Given the description of an element on the screen output the (x, y) to click on. 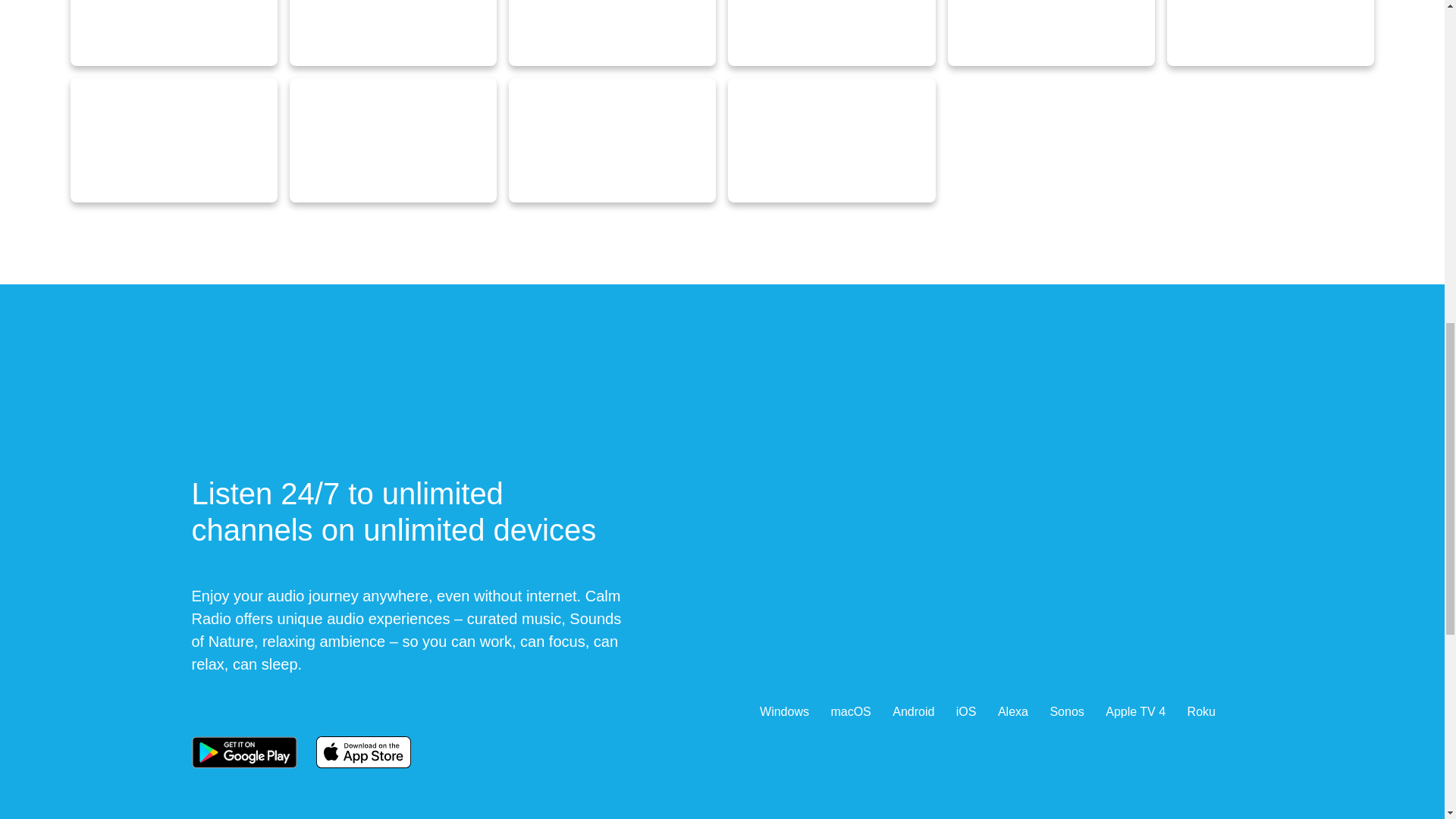
ADAGIOS (831, 33)
ESSENTIAL BEETHOVEN (392, 139)
BALLET (1050, 33)
YO YO MA (172, 33)
ENCHANTED HAYDN (612, 139)
SONATAS (612, 33)
PEACEFUL BACH (1270, 33)
VIENNA PHILHARMONIC (392, 33)
BEST OF BRAHMS (831, 139)
LIGHT MOZART (172, 139)
